Given the description of an element on the screen output the (x, y) to click on. 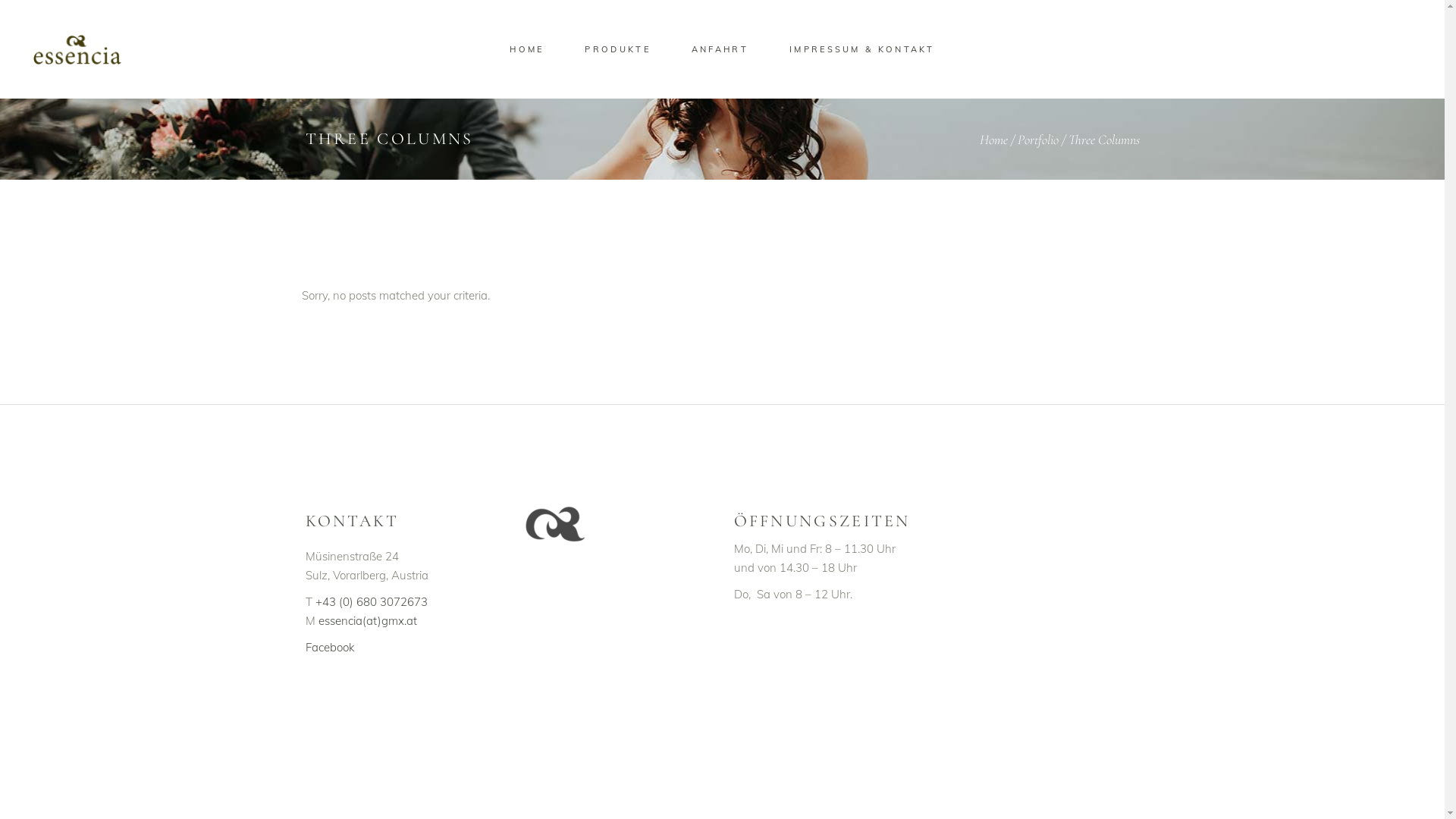
essencia(at)gmx.at Element type: text (367, 620)
Portfolio Element type: text (1037, 139)
HOME Element type: text (526, 49)
Facebook Element type: text (328, 647)
+43 (0) 680 3072673 Element type: text (371, 601)
Home Element type: text (993, 139)
PRODUKTE Element type: text (617, 49)
IMPRESSUM & KONTAKT Element type: text (861, 49)
ANFAHRT Element type: text (719, 49)
